Given the description of an element on the screen output the (x, y) to click on. 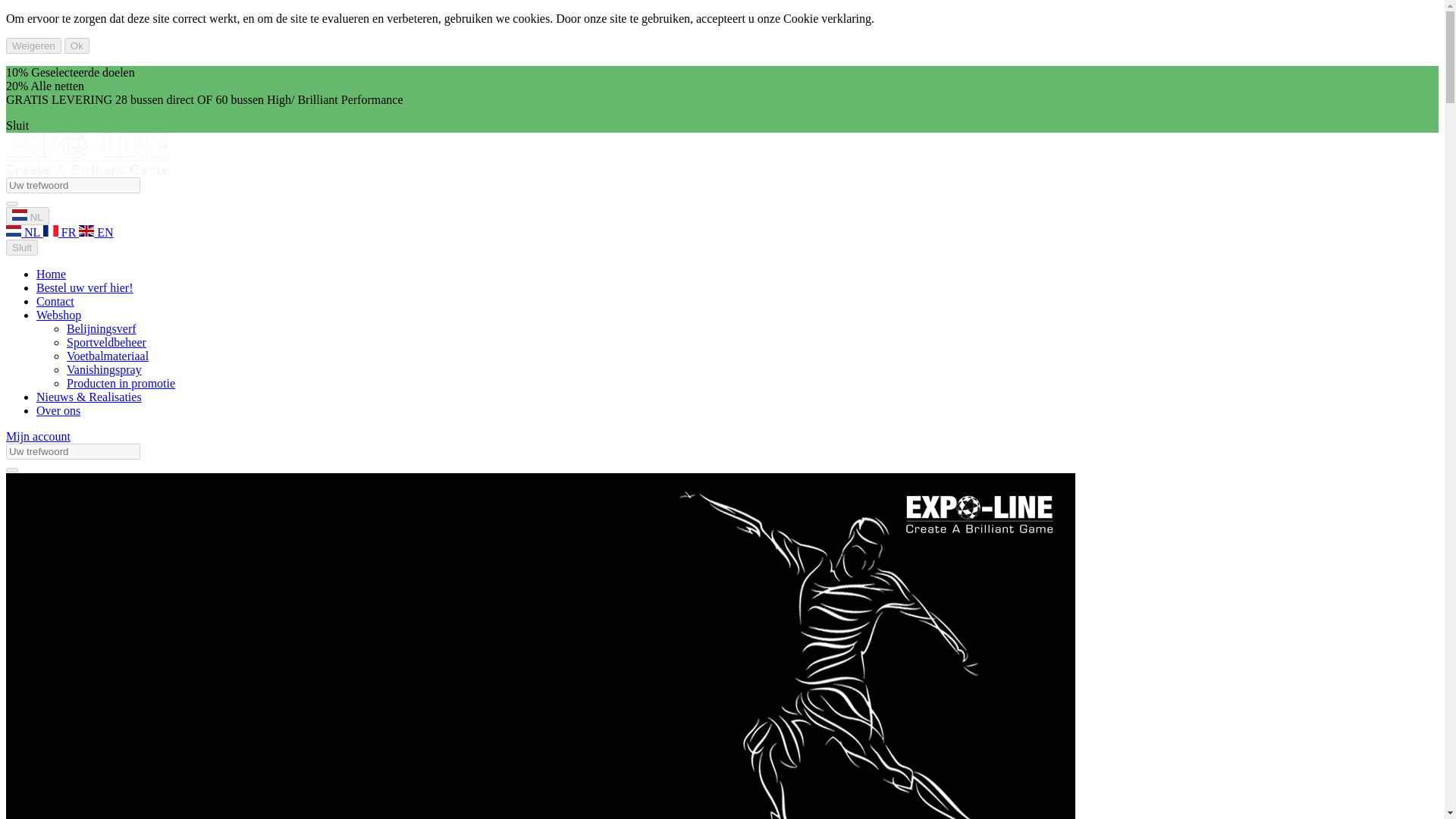
Voetbalmateriaal (107, 355)
Sportveldbeheer (106, 341)
Belijningsverf (101, 328)
EN (86, 230)
Bestel uw verf hier! (84, 287)
Weigeren (33, 45)
FR (61, 232)
Mijn account (37, 436)
Producten in promotie (120, 382)
Sluit (17, 124)
EN (95, 232)
Home (50, 273)
Webshop (58, 314)
FR (61, 232)
Belijningsverf (101, 328)
